Given the description of an element on the screen output the (x, y) to click on. 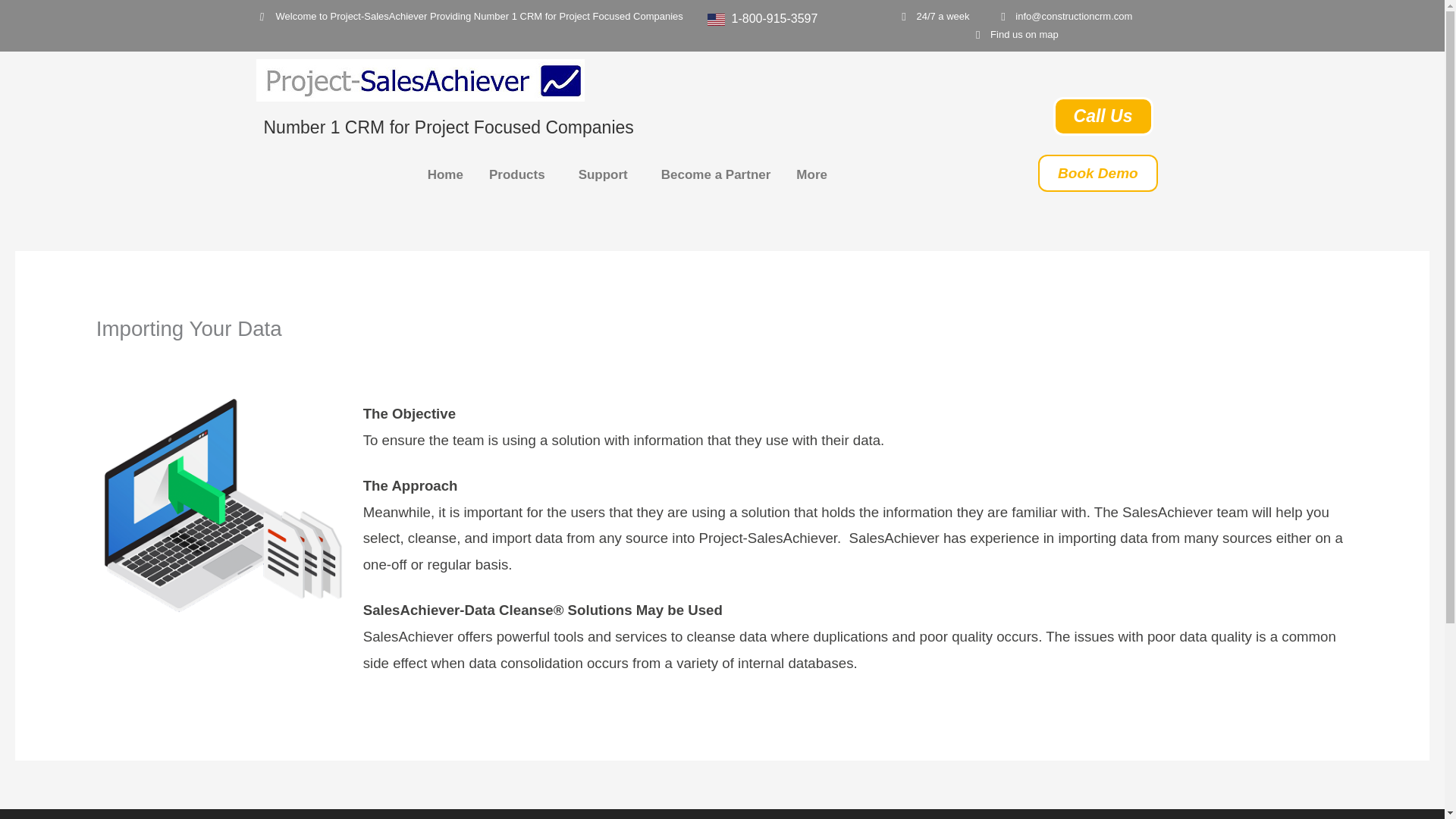
Find us on map (1014, 34)
Call Us (1102, 116)
Home (445, 174)
Support (606, 174)
More (815, 174)
Products (521, 174)
Become a Partner (715, 174)
Book Demo (1097, 172)
